Given the description of an element on the screen output the (x, y) to click on. 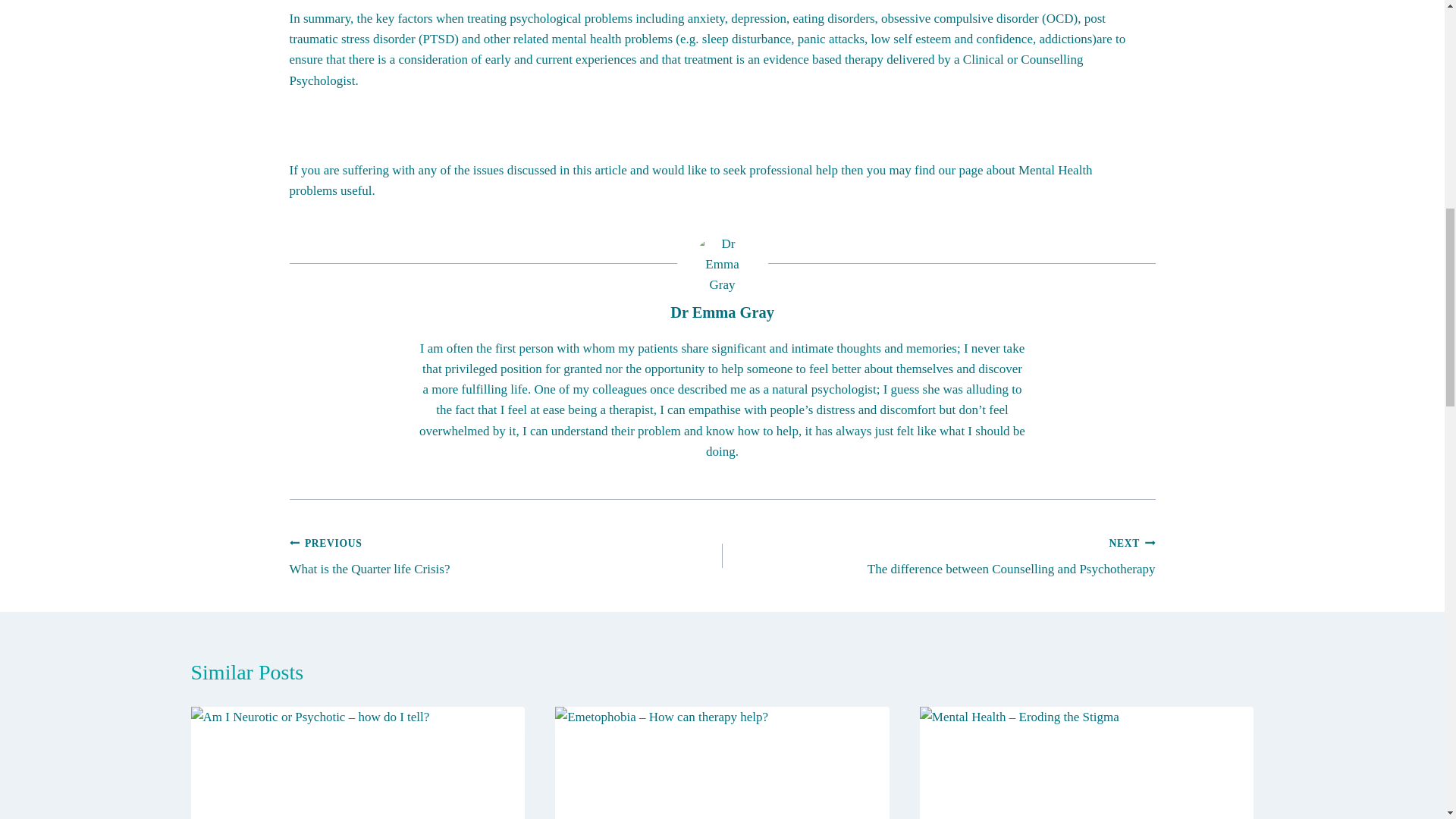
Posts by Dr Emma Gray (721, 312)
